Given the description of an element on the screen output the (x, y) to click on. 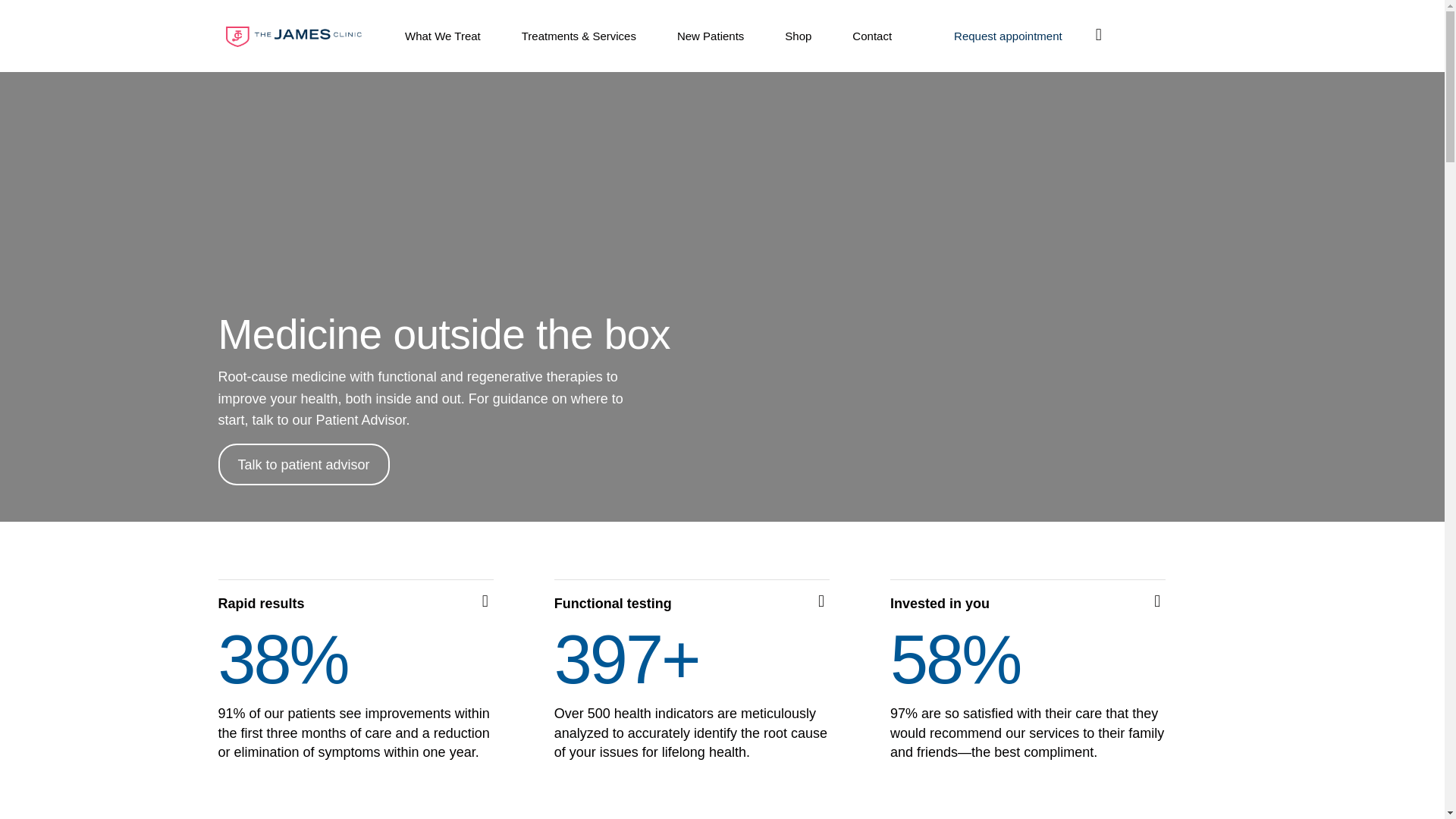
Contact (871, 35)
Shop (797, 35)
New Patients (710, 35)
What We Treat (442, 35)
